Given the description of an element on the screen output the (x, y) to click on. 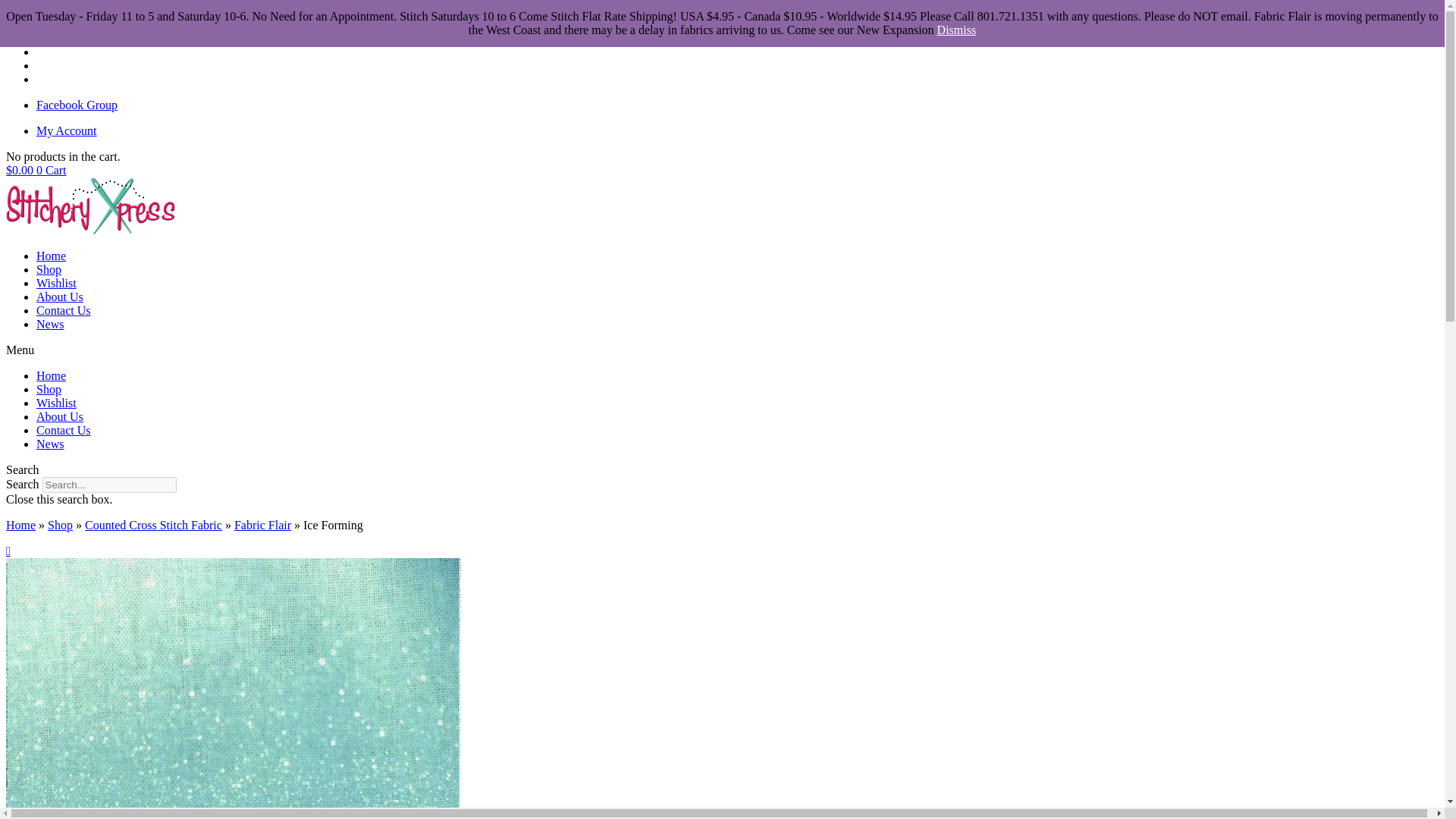
Wishlist (56, 282)
Fabric Flair (262, 524)
Shop (48, 389)
News (50, 443)
Contact Us (63, 430)
Home (50, 375)
Skip to content (42, 11)
About Us (59, 296)
About Us (59, 416)
News (50, 323)
Home (19, 524)
Contact Us (63, 309)
Home (50, 255)
My Account (66, 130)
Counted Cross Stitch Fabric (153, 524)
